Given the description of an element on the screen output the (x, y) to click on. 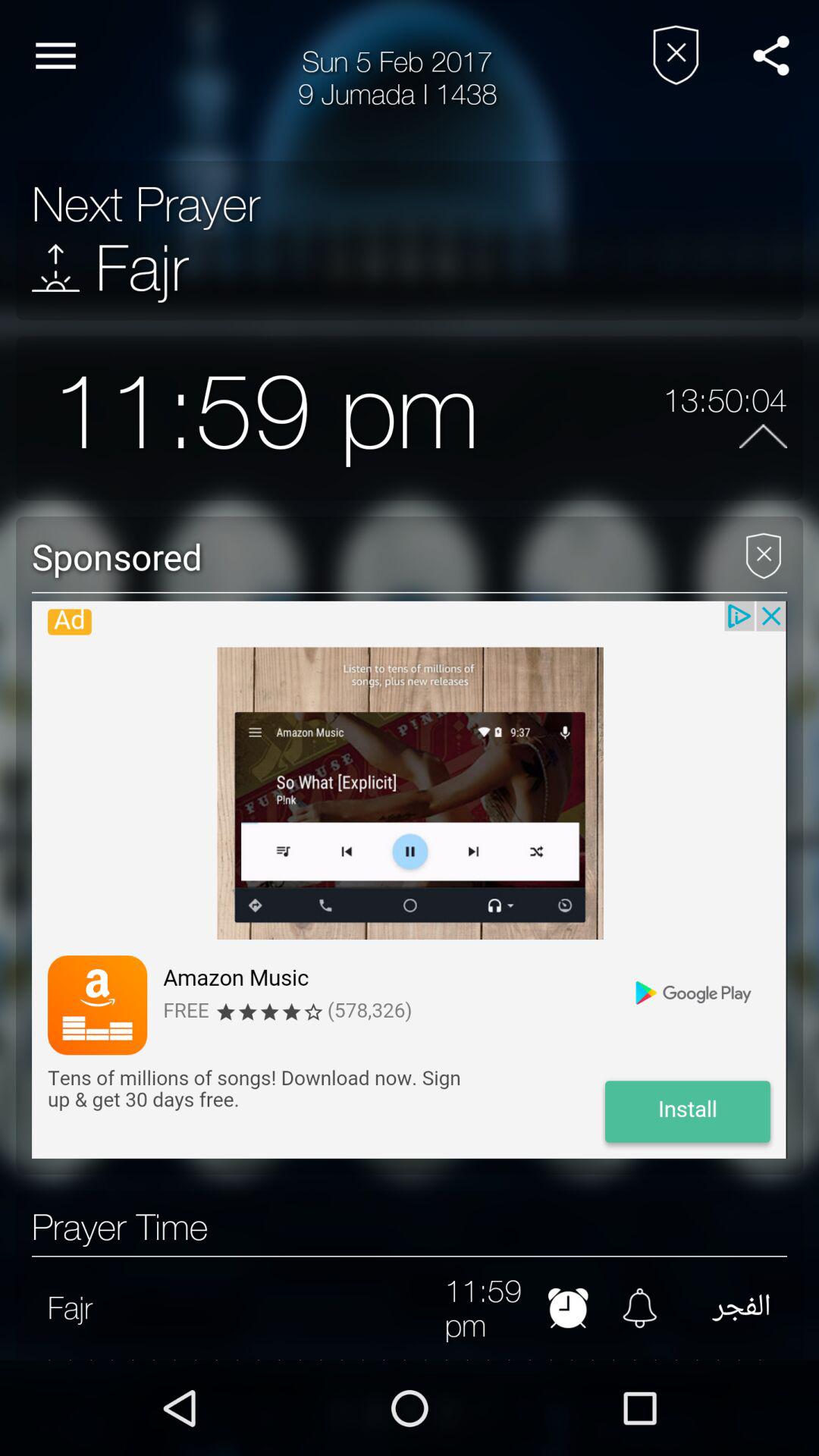
clock (568, 1308)
